Given the description of an element on the screen output the (x, y) to click on. 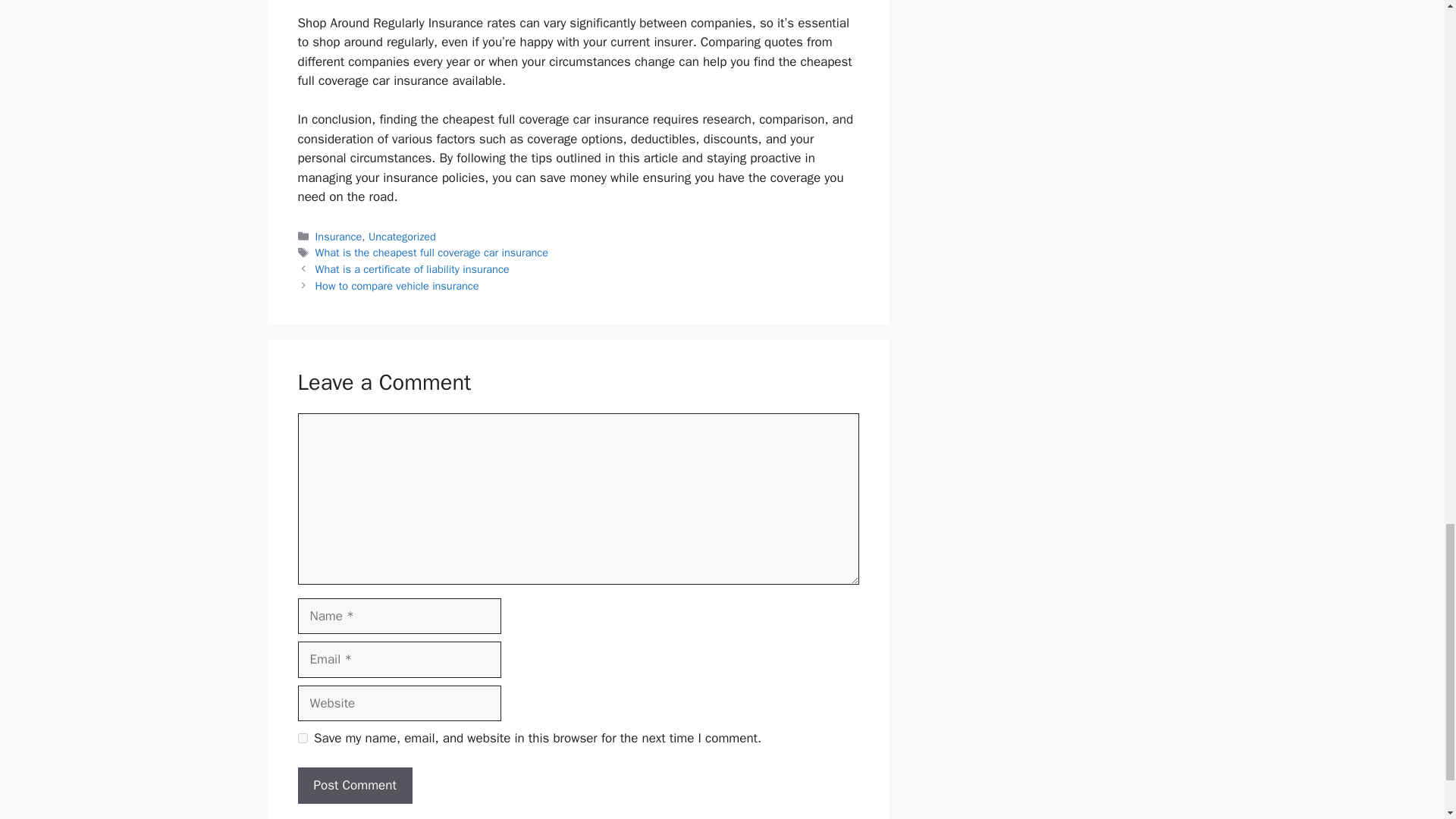
yes (302, 737)
Next (397, 285)
Insurance (338, 236)
What is the cheapest full coverage car insurance (431, 252)
What is a certificate of liability insurance (412, 269)
Previous (412, 269)
How to compare vehicle insurance (397, 285)
Post Comment (354, 785)
Uncategorized (401, 236)
Post Comment (354, 785)
